Given the description of an element on the screen output the (x, y) to click on. 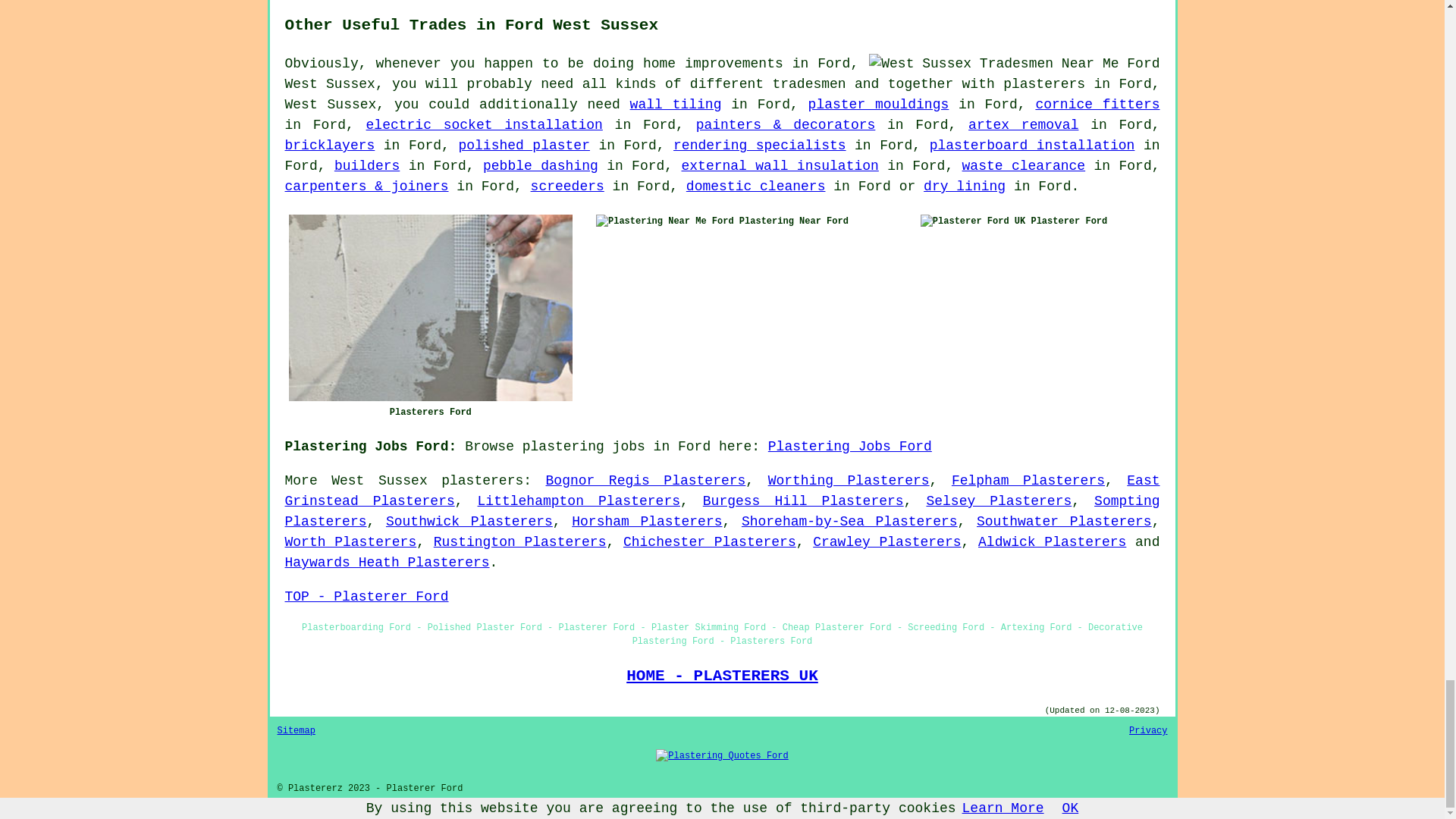
West Sussex Tradesmen Near Me Ford (1013, 64)
Plastering Near Me Ford (664, 221)
Bognor Regis Plasterers (645, 480)
Worthing Plasterers (849, 480)
Plasterer Ford UK (972, 221)
Plasterers Ford (430, 307)
